Given the description of an element on the screen output the (x, y) to click on. 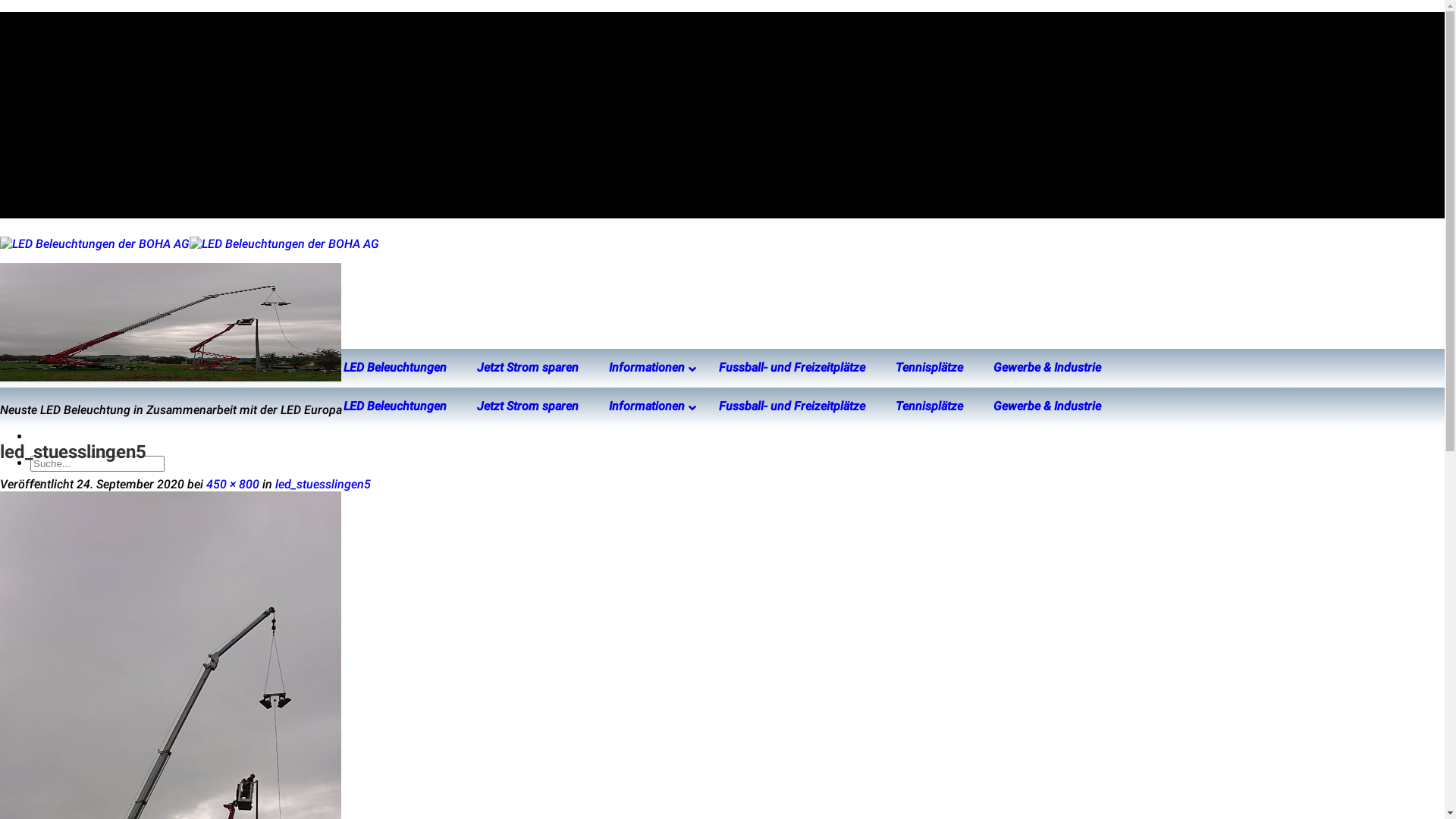
Jetzt Strom sparen Element type: text (527, 367)
led_stuesslingen5 Element type: text (322, 483)
Gewerbe & Industrie Element type: text (1047, 367)
Informationen Element type: text (648, 406)
Informationen Element type: text (648, 367)
Gewerbe & Industrie Element type: text (1047, 406)
LED Beleuchtungen Element type: text (394, 406)
Jetzt Strom sparen Element type: text (527, 406)
LED Beleuchtungen Element type: text (394, 367)
